Given the description of an element on the screen output the (x, y) to click on. 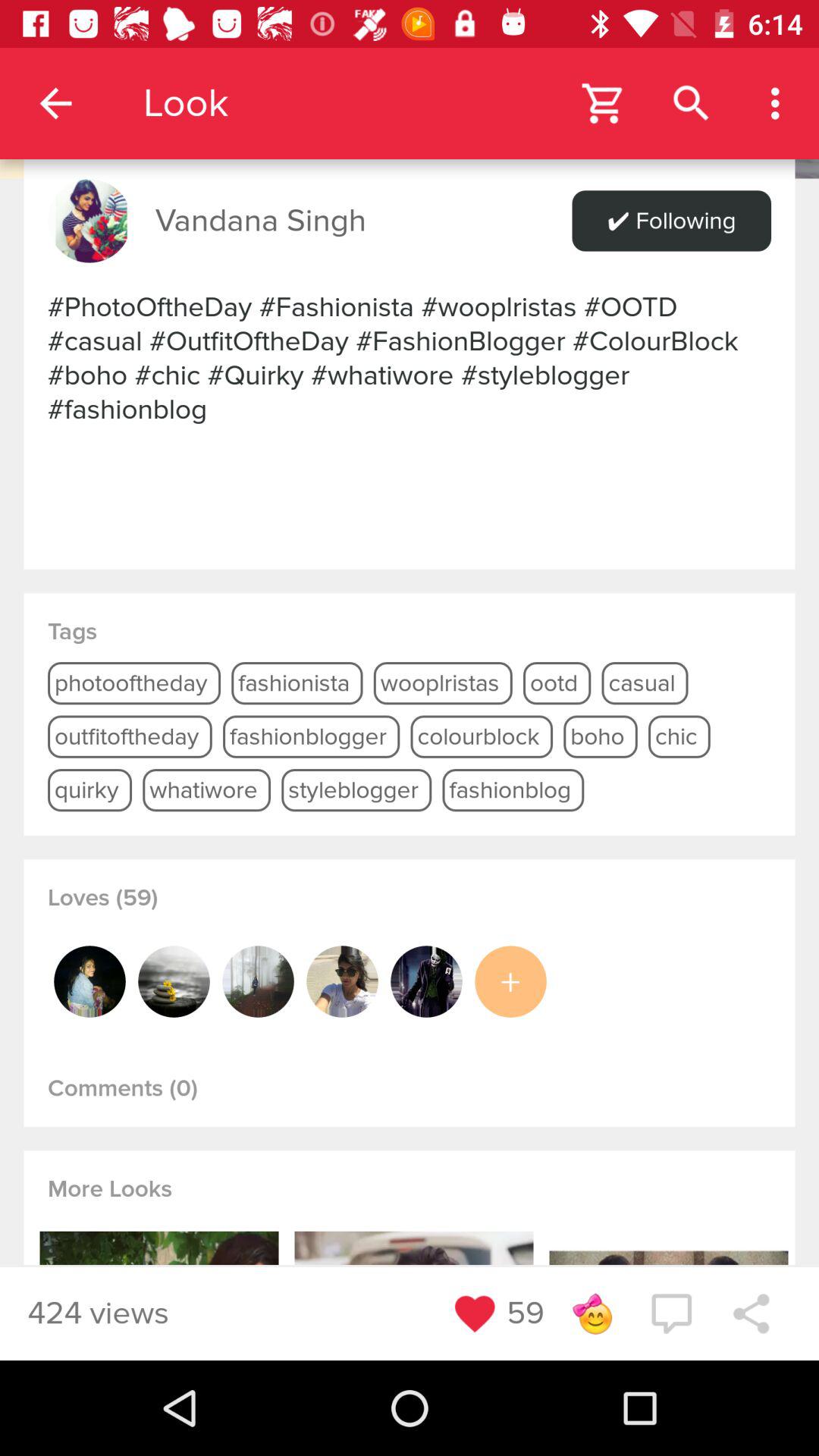
open shopping cart (603, 103)
